Given the description of an element on the screen output the (x, y) to click on. 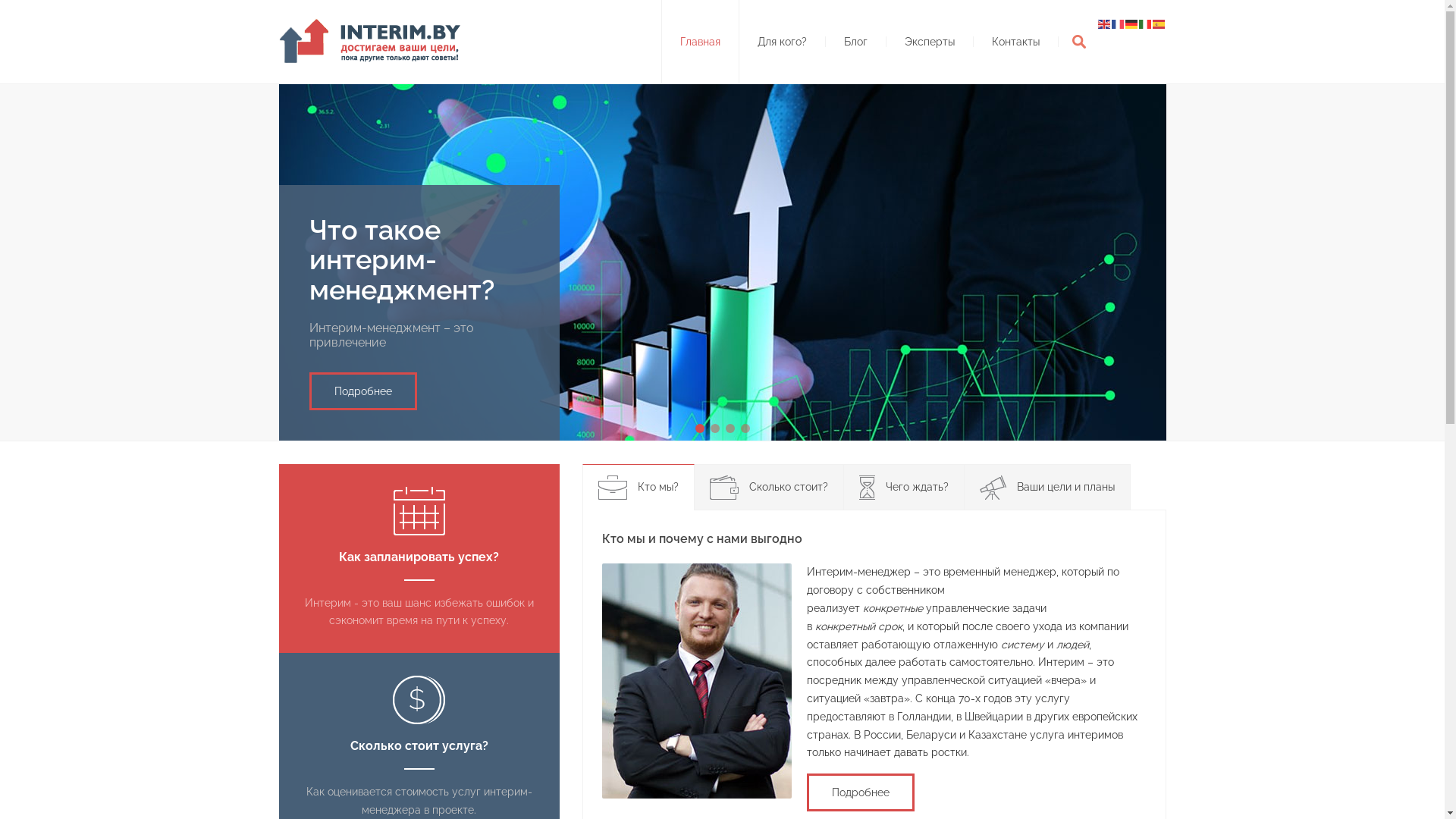
Spanish Element type: hover (1159, 23)
ico2 image Element type: hover (723, 487)
French Element type: hover (1118, 23)
ico4 image Element type: hover (992, 487)
interim-manager image Element type: hover (696, 680)
English Element type: hover (1104, 23)
Italian Element type: hover (1145, 23)
ico1 image Element type: hover (611, 487)
icon1 image Element type: hover (418, 510)
icon2 image Element type: hover (418, 699)
logo-red image Element type: hover (373, 40)
ico3 image Element type: hover (866, 487)
German Element type: hover (1132, 23)
